Given the description of an element on the screen output the (x, y) to click on. 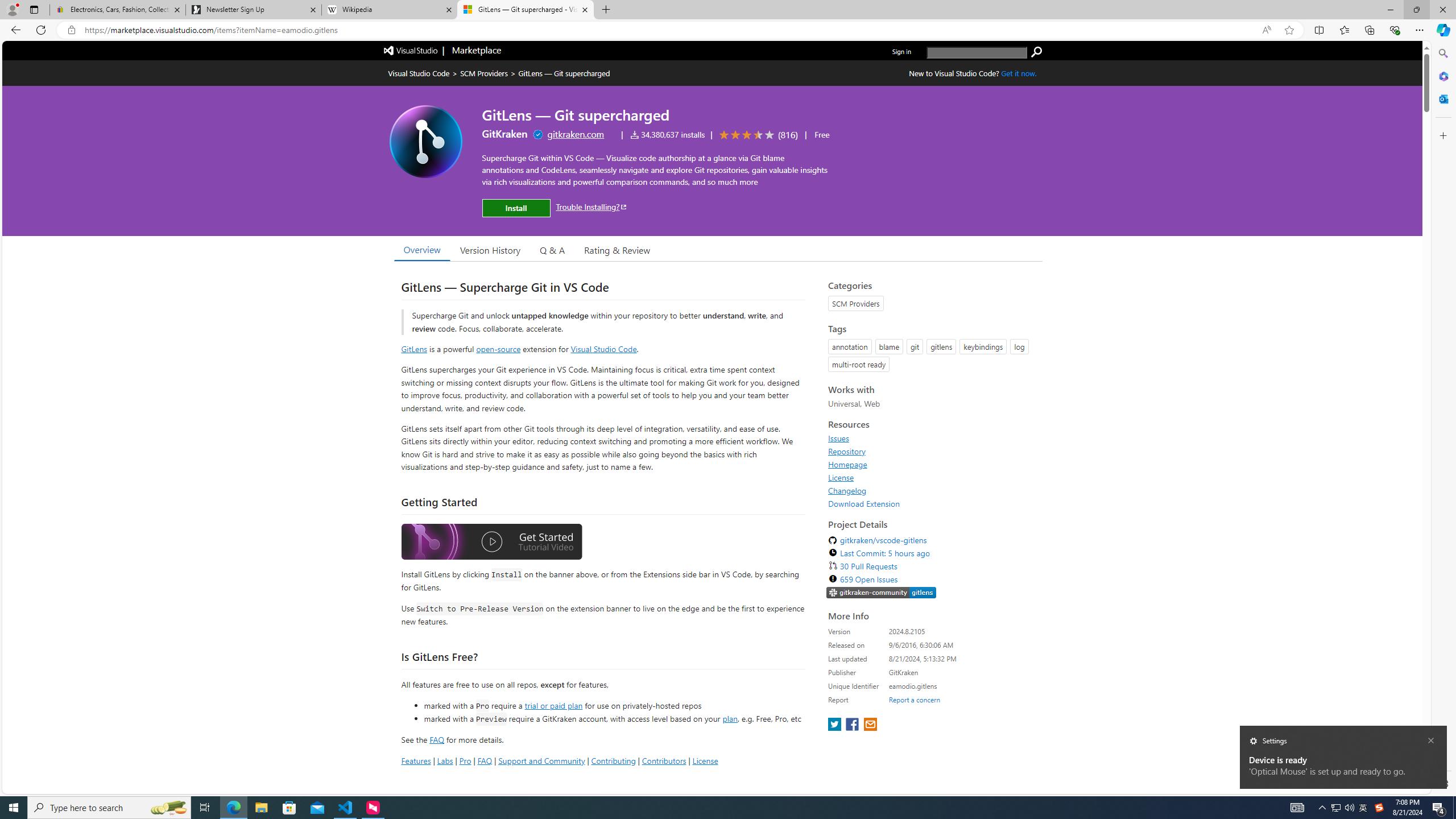
share extension on facebook (853, 725)
FAQ (484, 760)
Issues (838, 437)
SCM Providers (484, 72)
Support and Community (541, 760)
share extension on twitter (835, 725)
plan (730, 718)
